Given the description of an element on the screen output the (x, y) to click on. 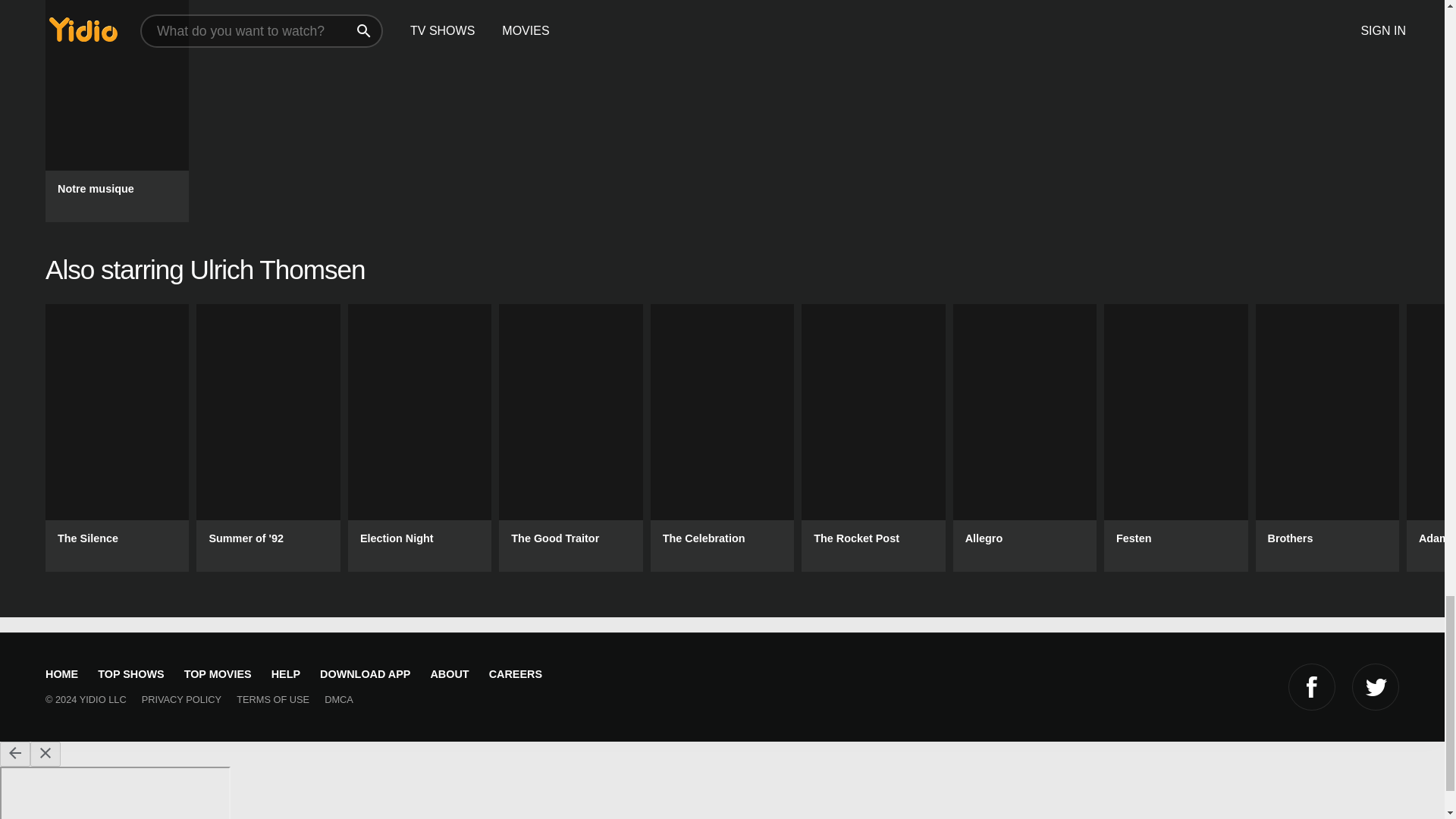
Facebook (1311, 686)
Twitter (1375, 686)
